Given the description of an element on the screen output the (x, y) to click on. 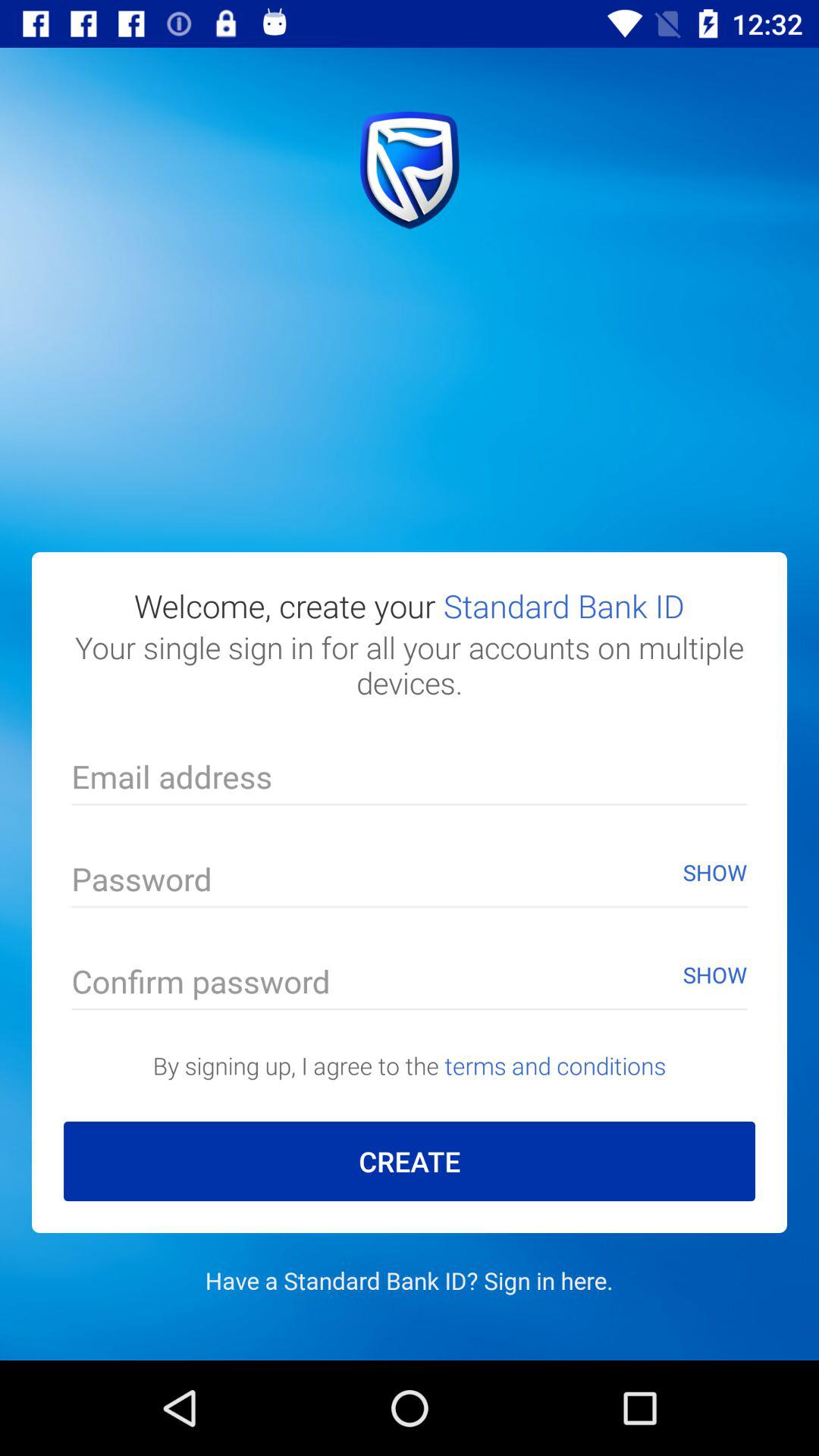
turn off the item above your single sign (409, 605)
